Given the description of an element on the screen output the (x, y) to click on. 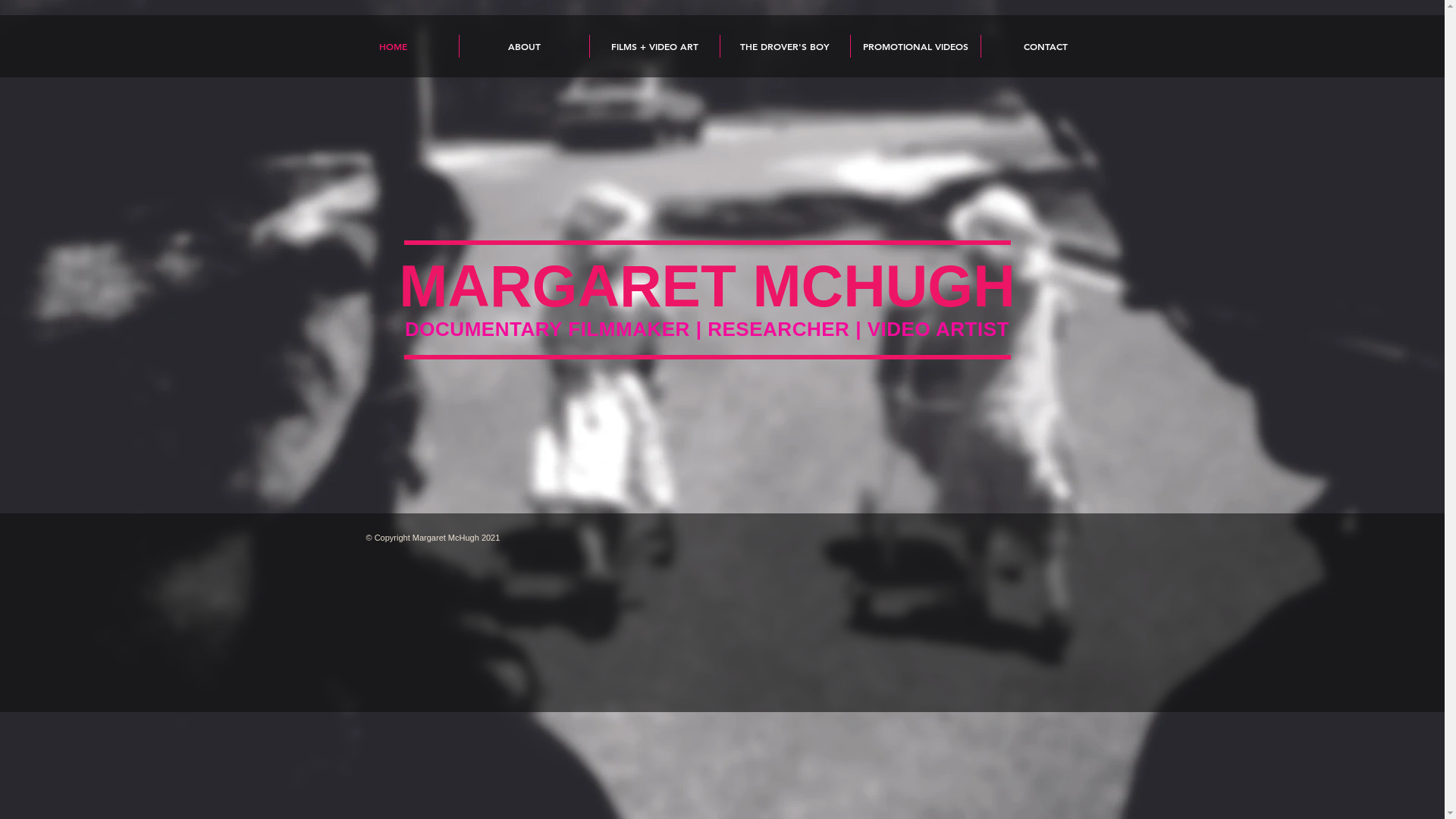
FILMS + VIDEO ART Element type: text (654, 45)
THE DROVER'S BOY Element type: text (785, 45)
HOME Element type: text (392, 45)
CONTACT Element type: text (1045, 45)
ABOUT Element type: text (524, 45)
PROMOTIONAL VIDEOS Element type: text (915, 45)
